Given the description of an element on the screen output the (x, y) to click on. 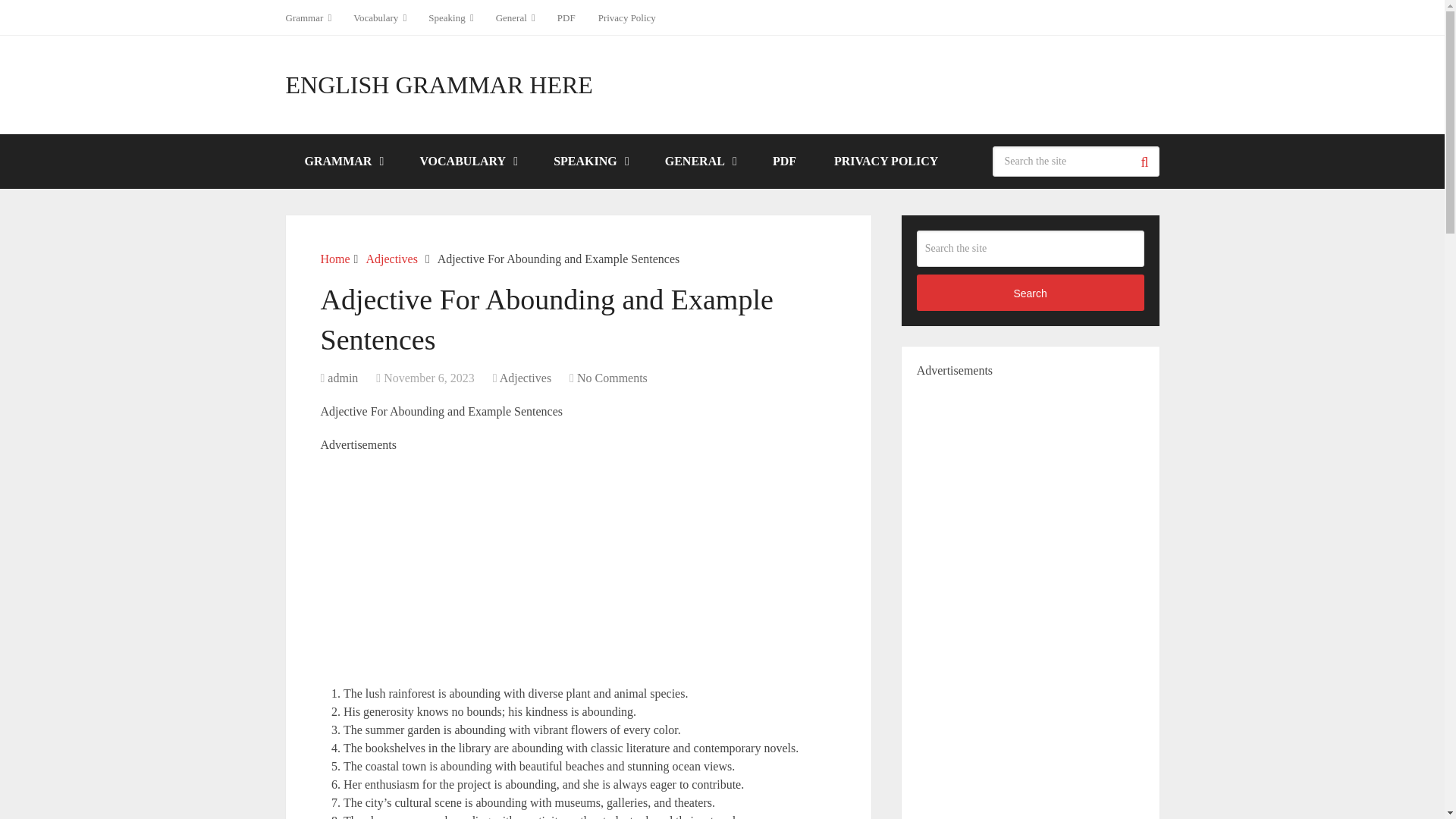
PDF (566, 17)
Vocabulary (379, 17)
ENGLISH GRAMMAR HERE (438, 84)
Speaking (449, 17)
Privacy Policy (626, 17)
View all posts in Adjectives (525, 377)
Grammar (313, 17)
General (515, 17)
Posts by admin (342, 377)
